Given the description of an element on the screen output the (x, y) to click on. 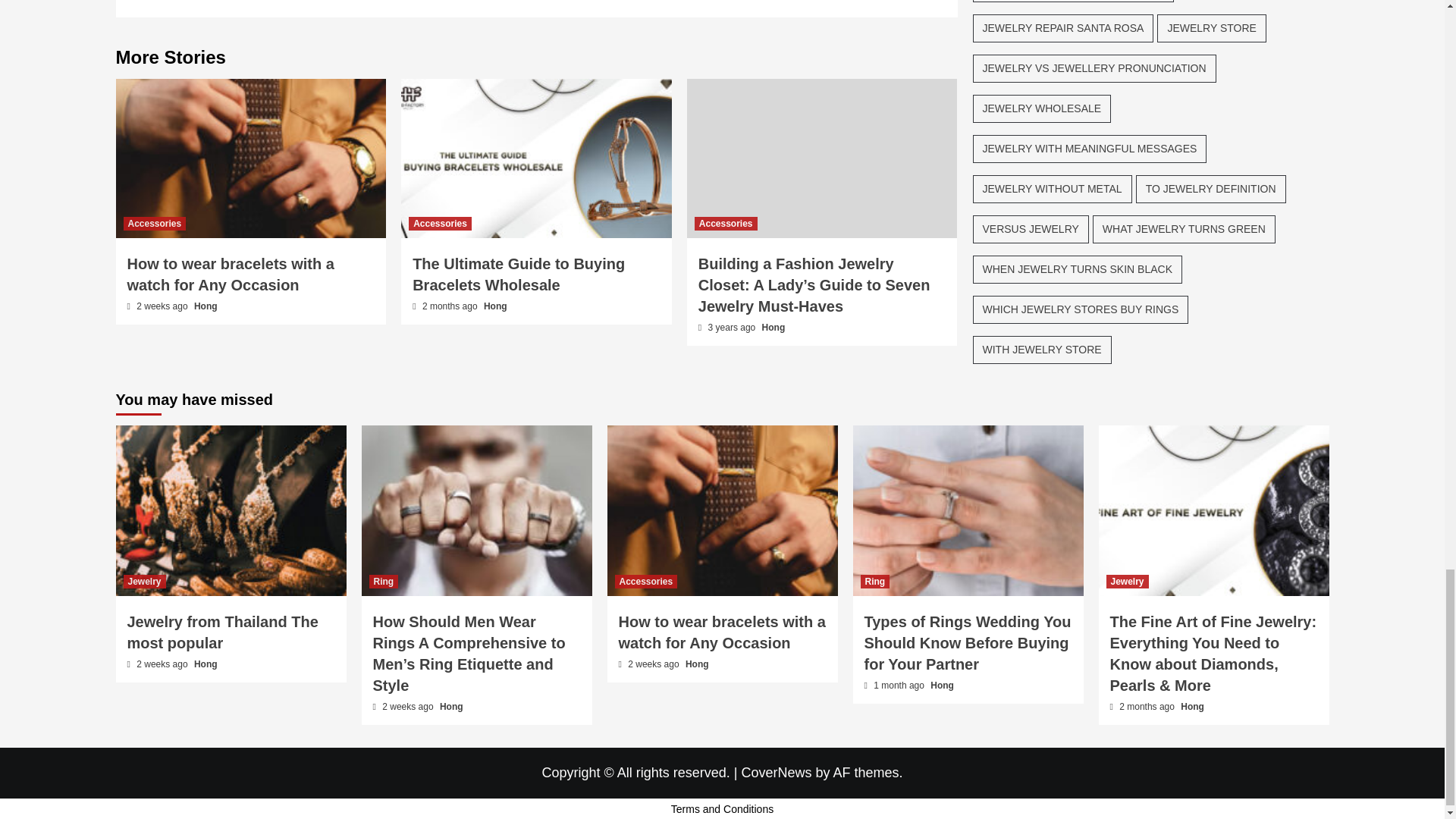
The Ultimate Guide to Buying Bracelets Wholesale (518, 274)
How to wear bracelets with a watch for Any Occasion (722, 510)
How to wear bracelets with a watch for Any Occasion (250, 158)
Accessories (440, 223)
Hong (204, 306)
Hong (494, 306)
Hong (773, 327)
The Ultimate Guide to Buying Bracelets Wholesale (536, 158)
Accessories (725, 223)
Accessories (154, 223)
How to wear bracelets with a watch for Any Occasion (231, 274)
